Given the description of an element on the screen output the (x, y) to click on. 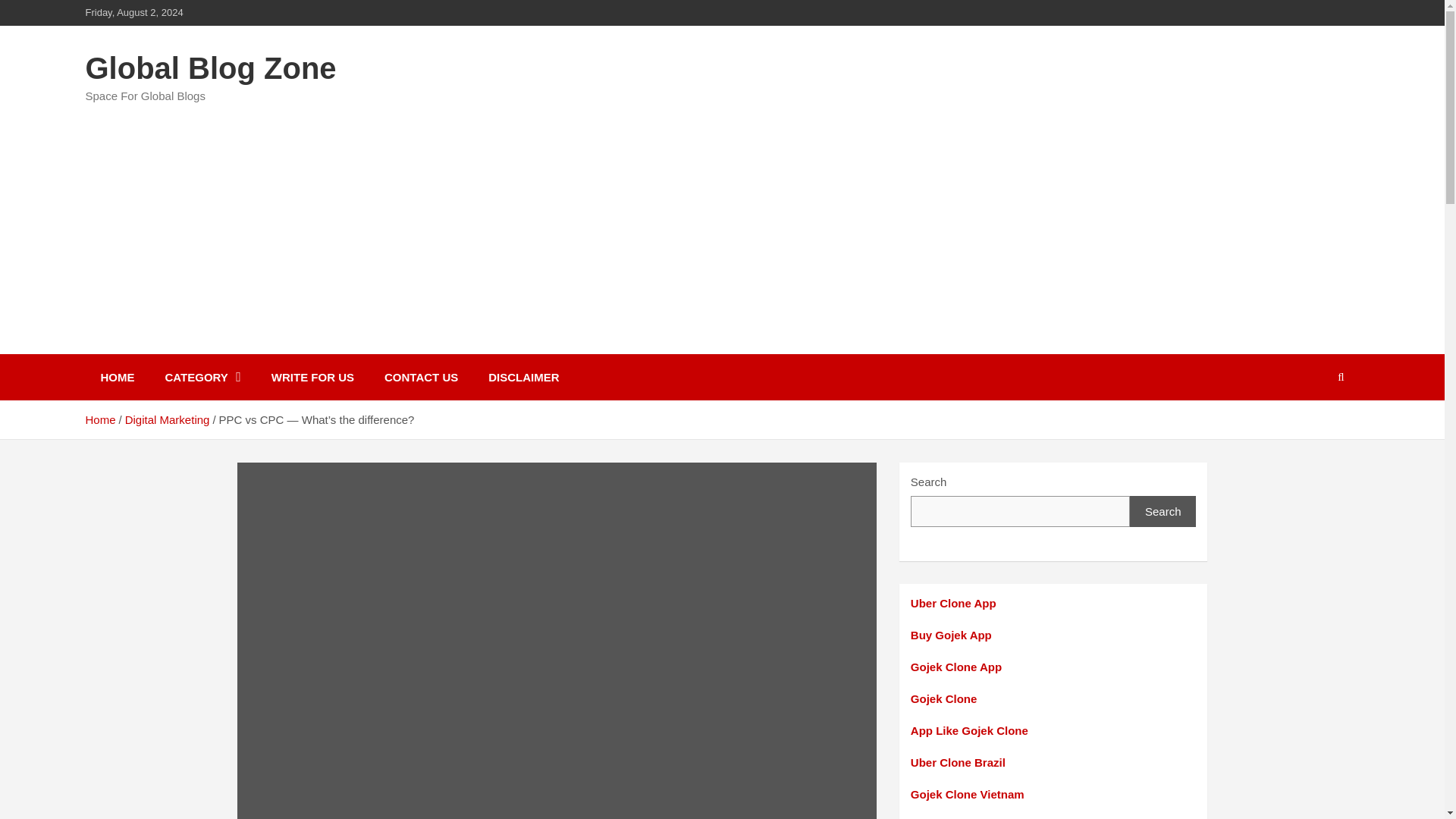
Home (99, 419)
Search (1162, 511)
WRITE FOR US (312, 376)
Digital Marketing (167, 419)
Uber Clone App (953, 603)
DISCLAIMER (523, 376)
HOME (116, 376)
CONTACT US (421, 376)
Global Blog Zone (210, 68)
